Given the description of an element on the screen output the (x, y) to click on. 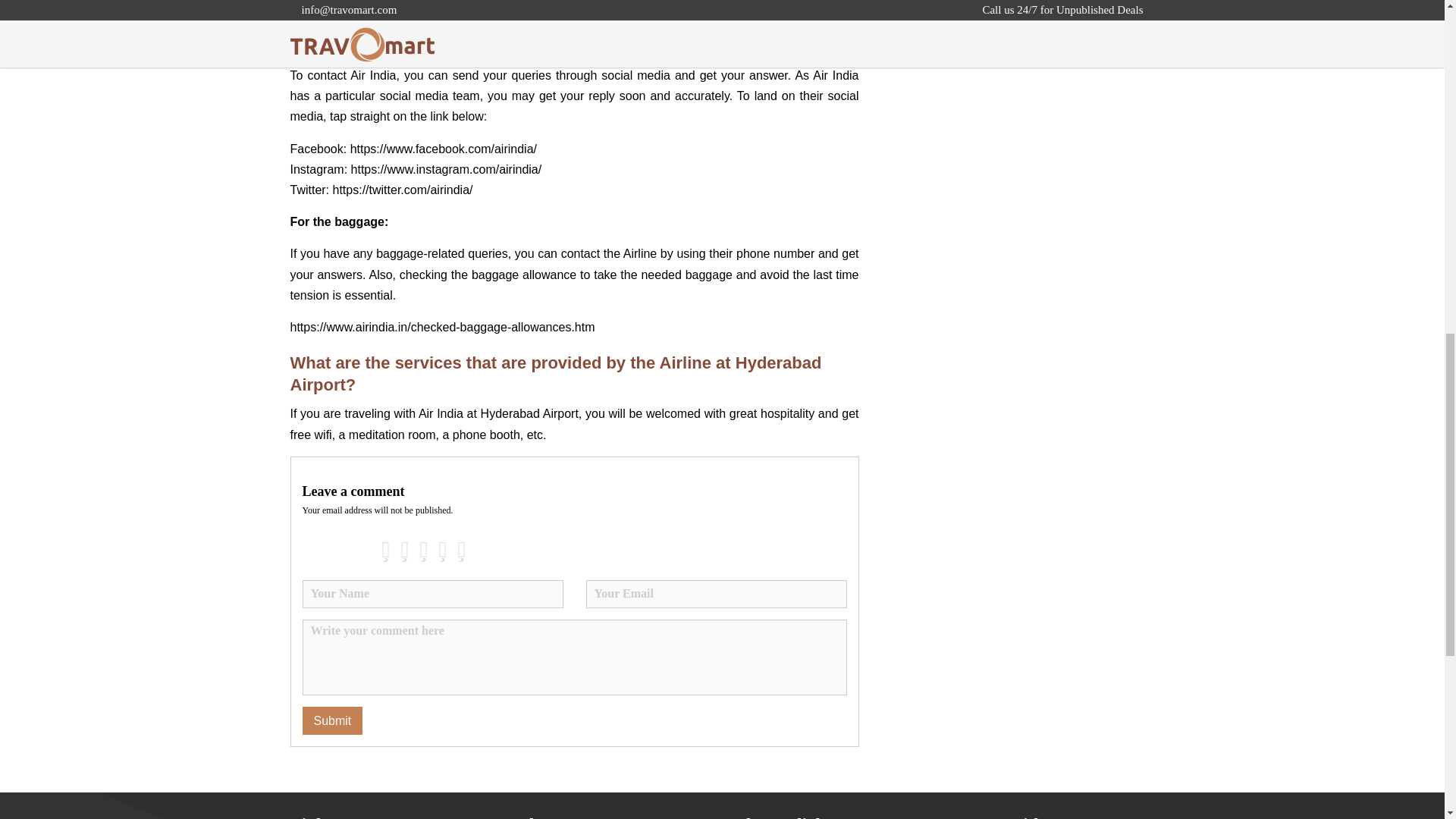
Submit (331, 720)
Invalid email address (715, 593)
